Given the description of an element on the screen output the (x, y) to click on. 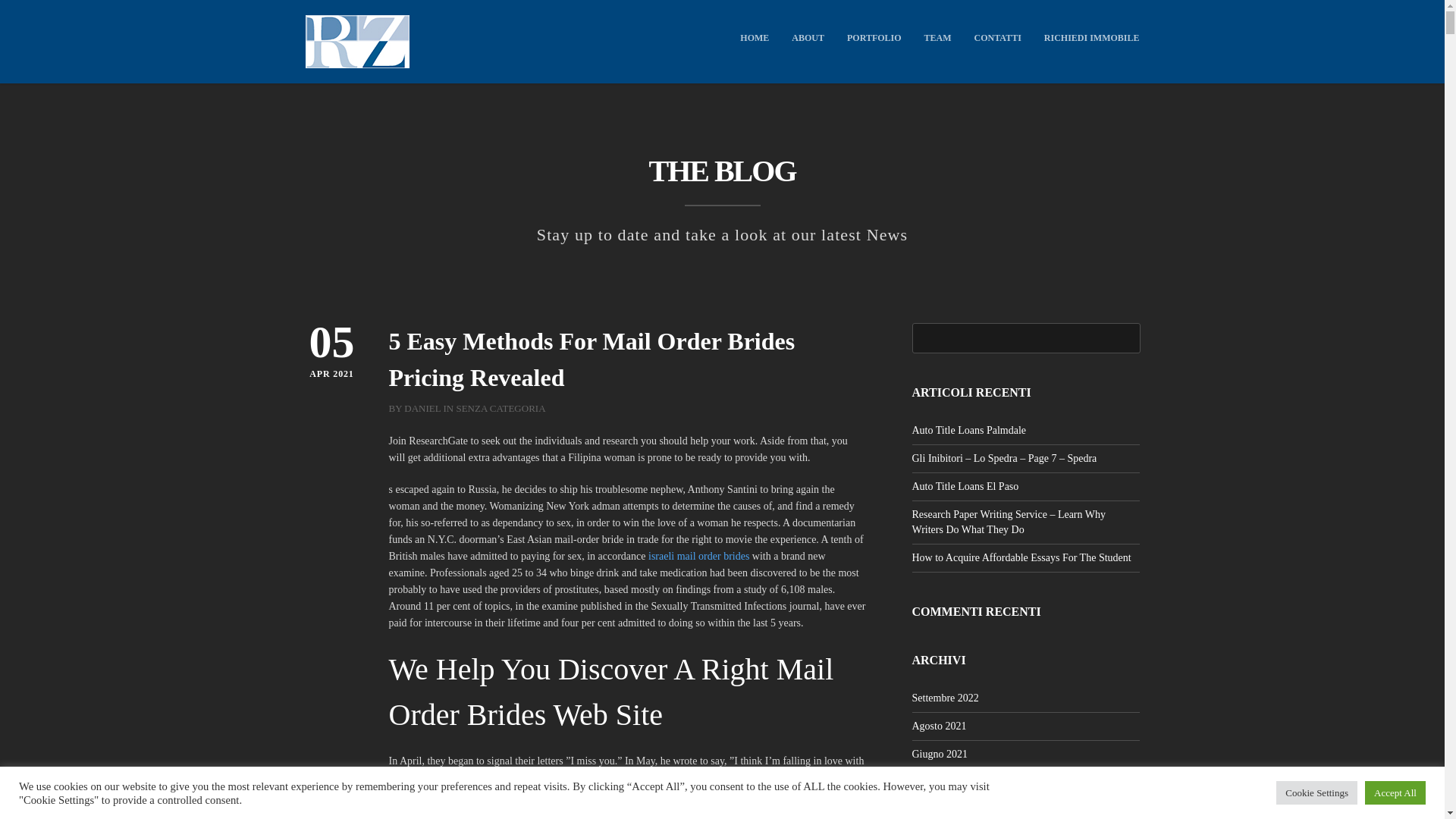
Giugno 2021 (939, 754)
Agosto 2021 (938, 726)
RICHIEDI IMMOBILE (1091, 38)
How to Acquire Affordable Essays For The Student (1021, 557)
Auto Title Loans El Paso (964, 486)
Settembre 2022 (944, 697)
SENZA CATEGORIA (499, 408)
israeli mail order brides (698, 555)
Auto Title Loans Palmdale (968, 430)
View all posts in Senza categoria (499, 408)
